Given the description of an element on the screen output the (x, y) to click on. 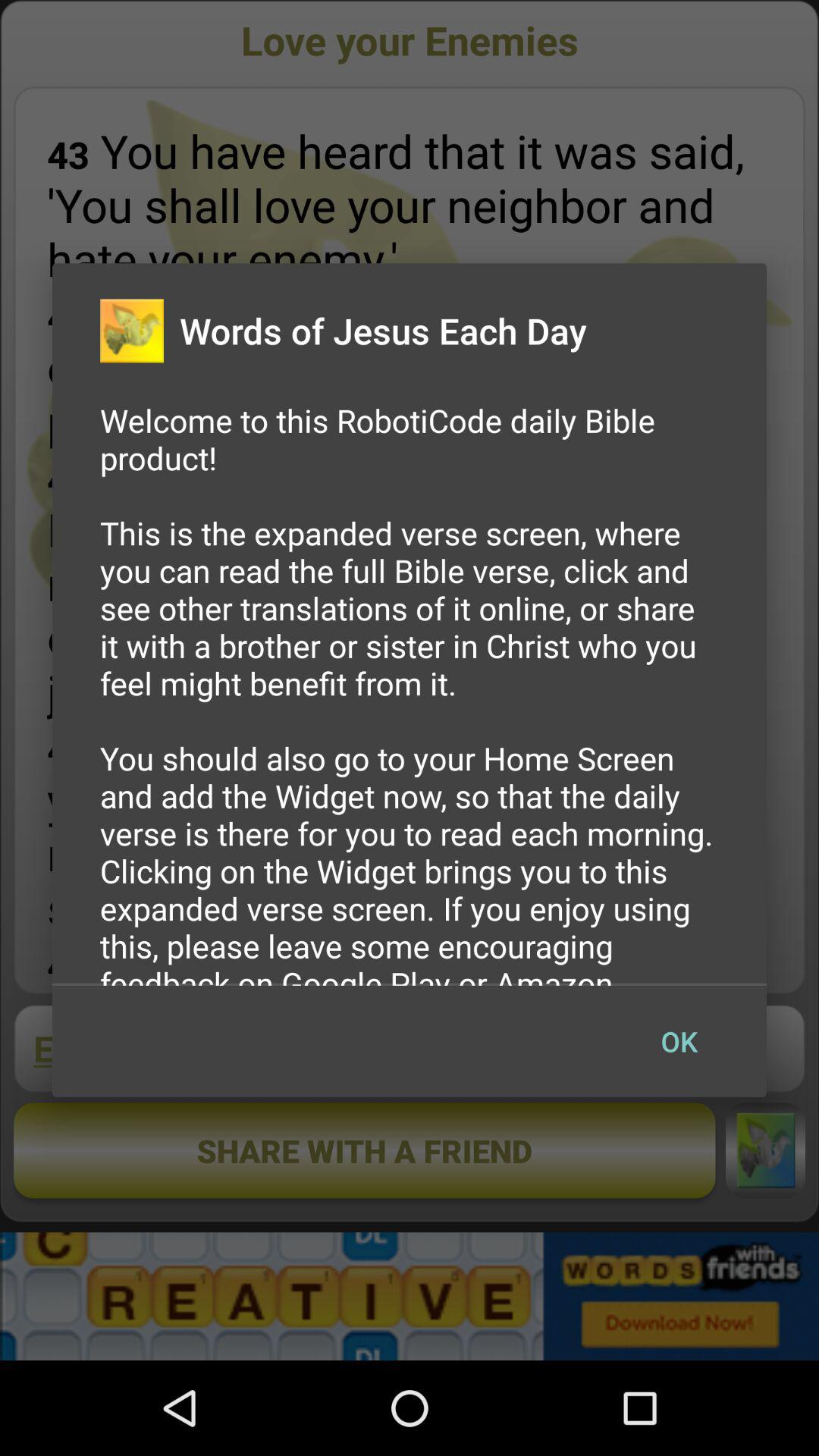
flip to the ok icon (678, 1041)
